Given the description of an element on the screen output the (x, y) to click on. 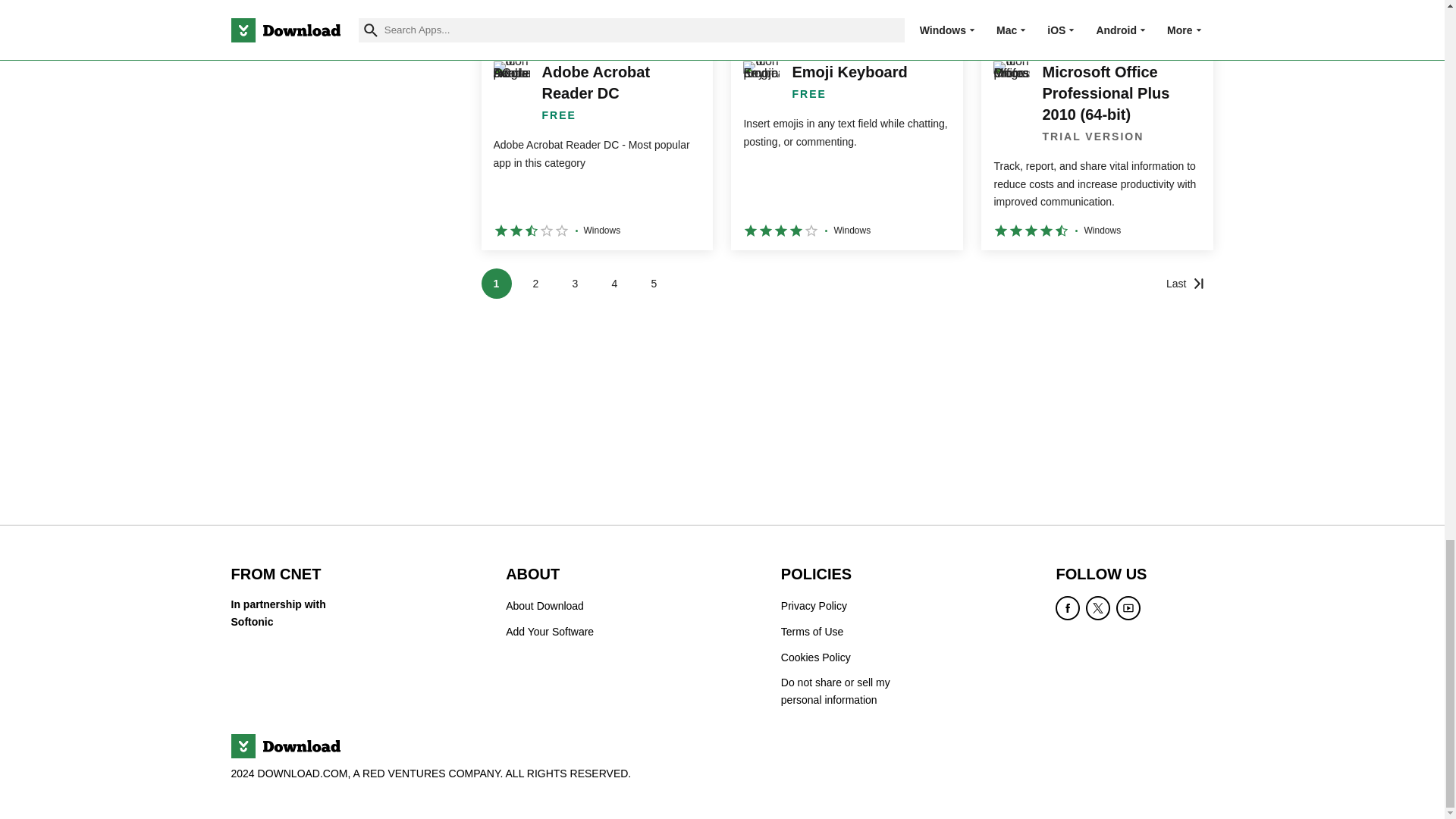
Zareklamy - Make money online for free (846, 15)
Apache OpenOffice (596, 15)
